Given the description of an element on the screen output the (x, y) to click on. 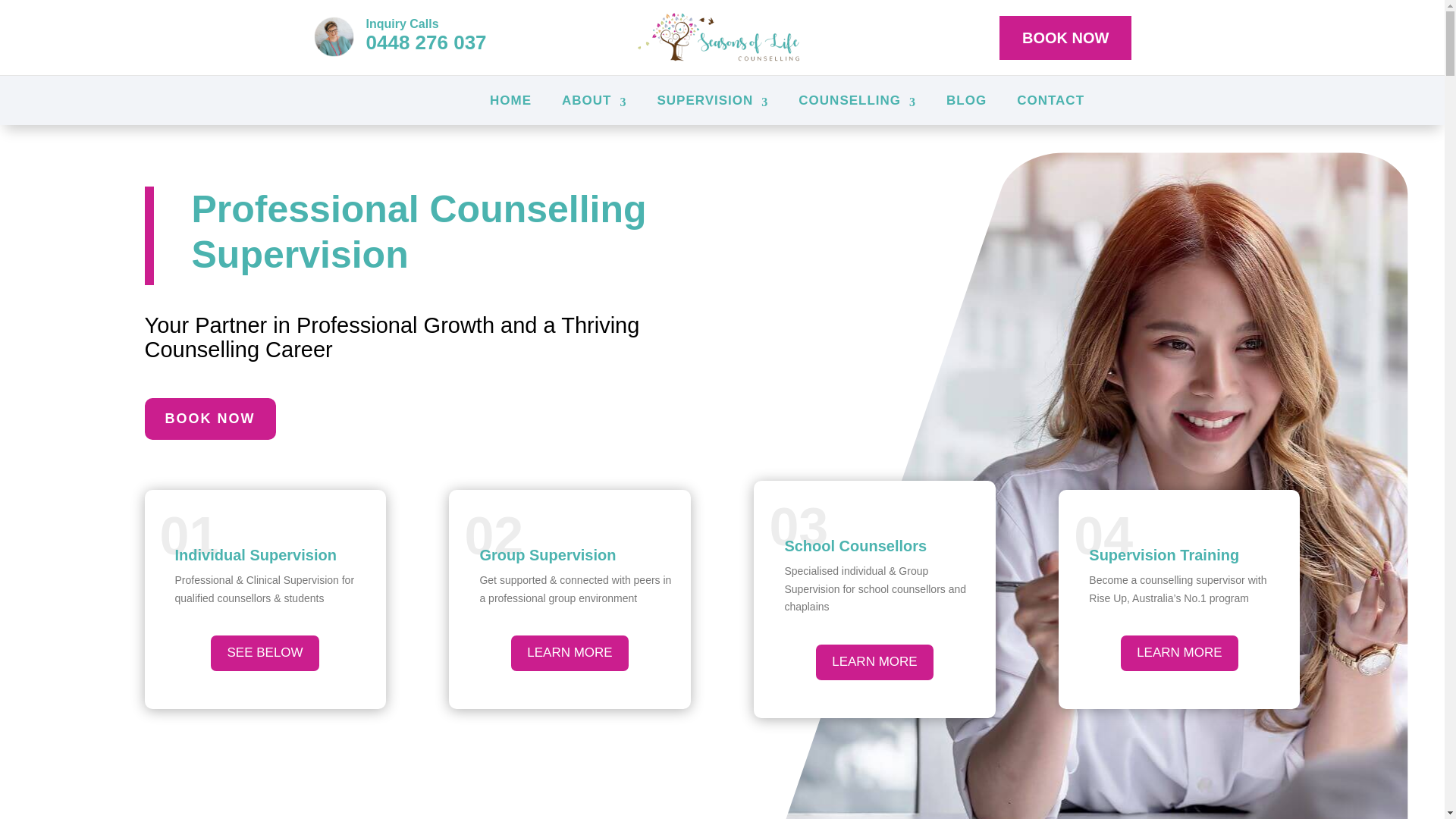
SUPERVISION (712, 100)
BLOG (966, 100)
ABOUT (594, 100)
COUNSELLING (856, 100)
CONTACT (1050, 100)
HOME (510, 100)
Seasons-of-supervision-logo (721, 37)
BOOK NOW (1064, 36)
